Given the description of an element on the screen output the (x, y) to click on. 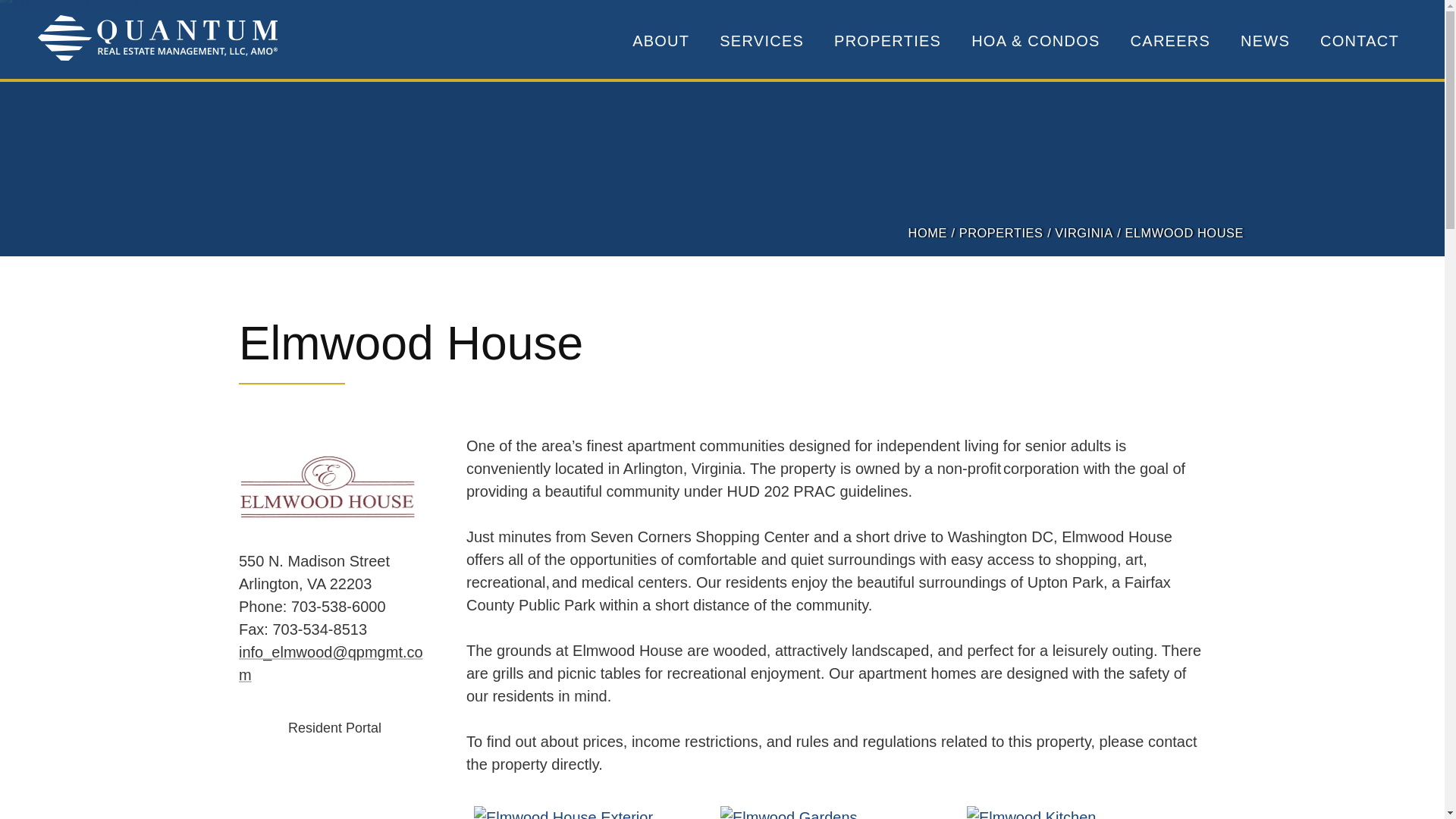
ABOUT (659, 41)
PROPERTIES (887, 41)
SERVICES (761, 41)
